Given the description of an element on the screen output the (x, y) to click on. 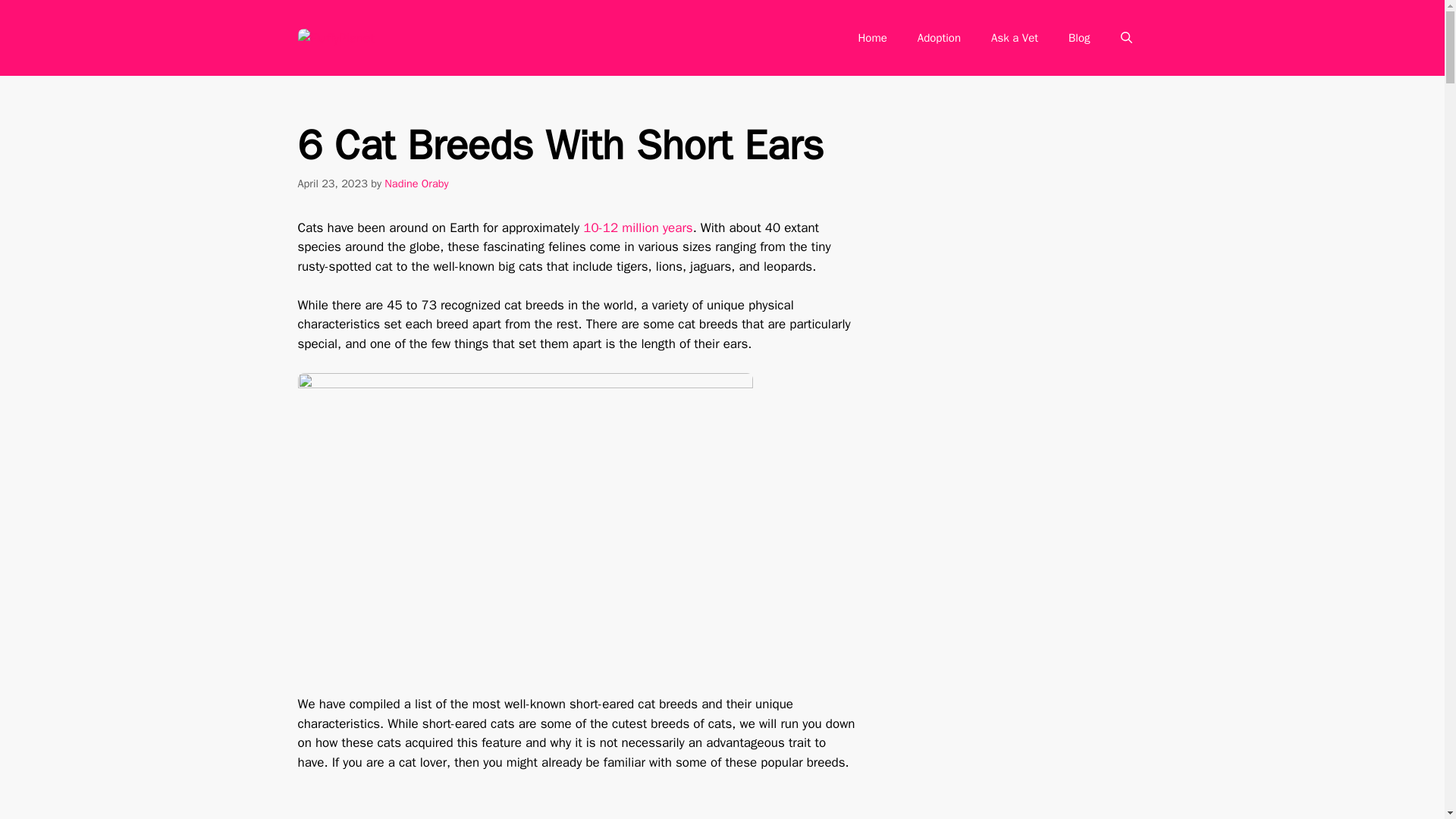
Ask a Vet (1013, 37)
Adoption (938, 37)
10-12 million years (638, 227)
Home (872, 37)
Blog (1078, 37)
Nadine Oraby (416, 183)
View all posts by Nadine Oraby (416, 183)
